Given the description of an element on the screen output the (x, y) to click on. 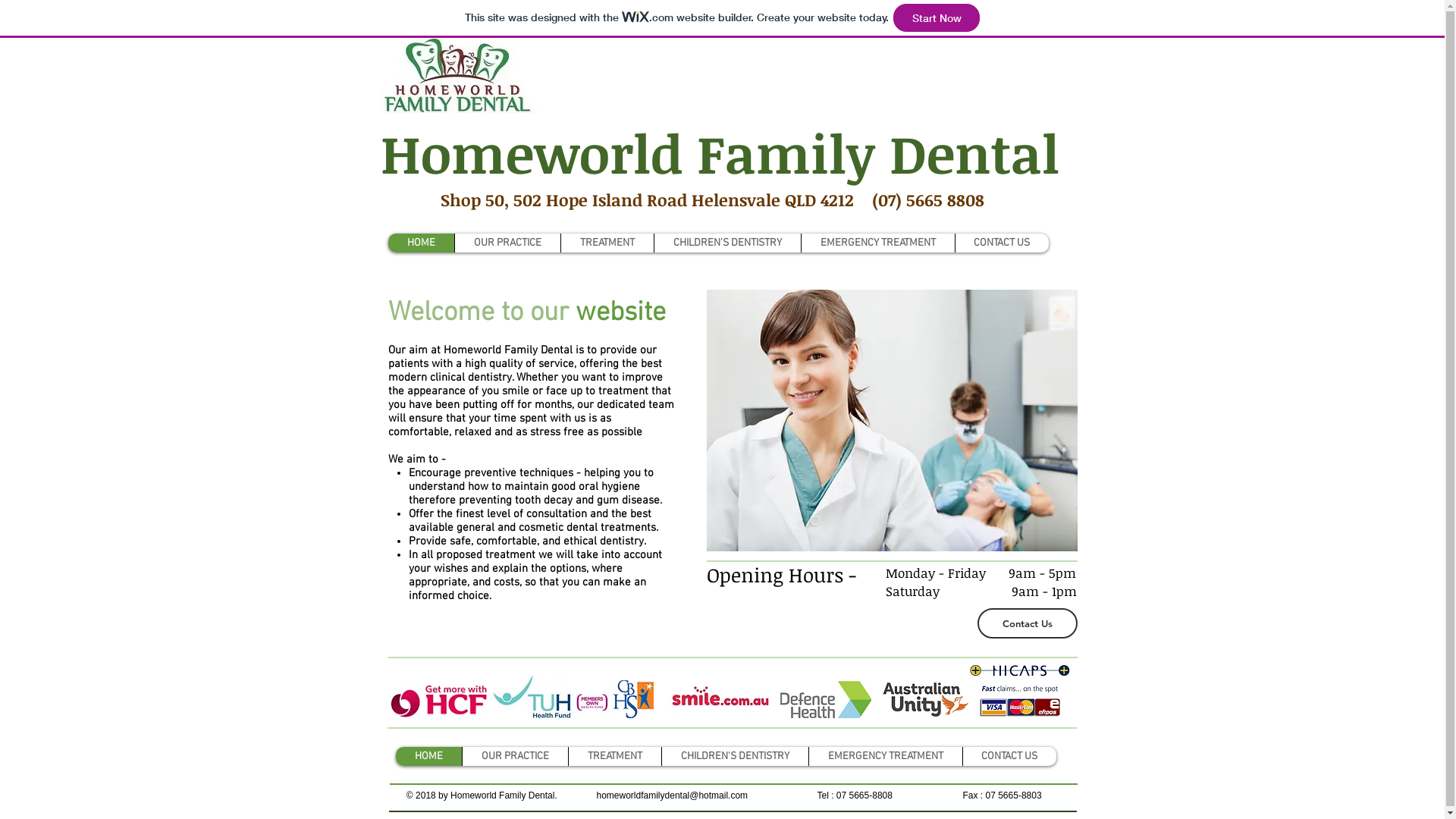
OUR PRACTICE Element type: text (506, 242)
CONTACT US Element type: text (1008, 755)
EMERGENCY TREATMENT Element type: text (885, 755)
CONTACT US Element type: text (1000, 242)
CHILDREN'S DENTISTRY Element type: text (734, 755)
TREATMENT Element type: text (605, 242)
OUR PRACTICE Element type: text (514, 755)
TREATMENT Element type: text (613, 755)
homeworldfamilydental@hotmail.com Element type: text (671, 795)
EMERGENCY TREATMENT Element type: text (877, 242)
HOME Element type: text (421, 242)
HOME Element type: text (428, 755)
CHILDREN'S DENTISTRY Element type: text (726, 242)
Contact Us Element type: text (1026, 623)
